Given the description of an element on the screen output the (x, y) to click on. 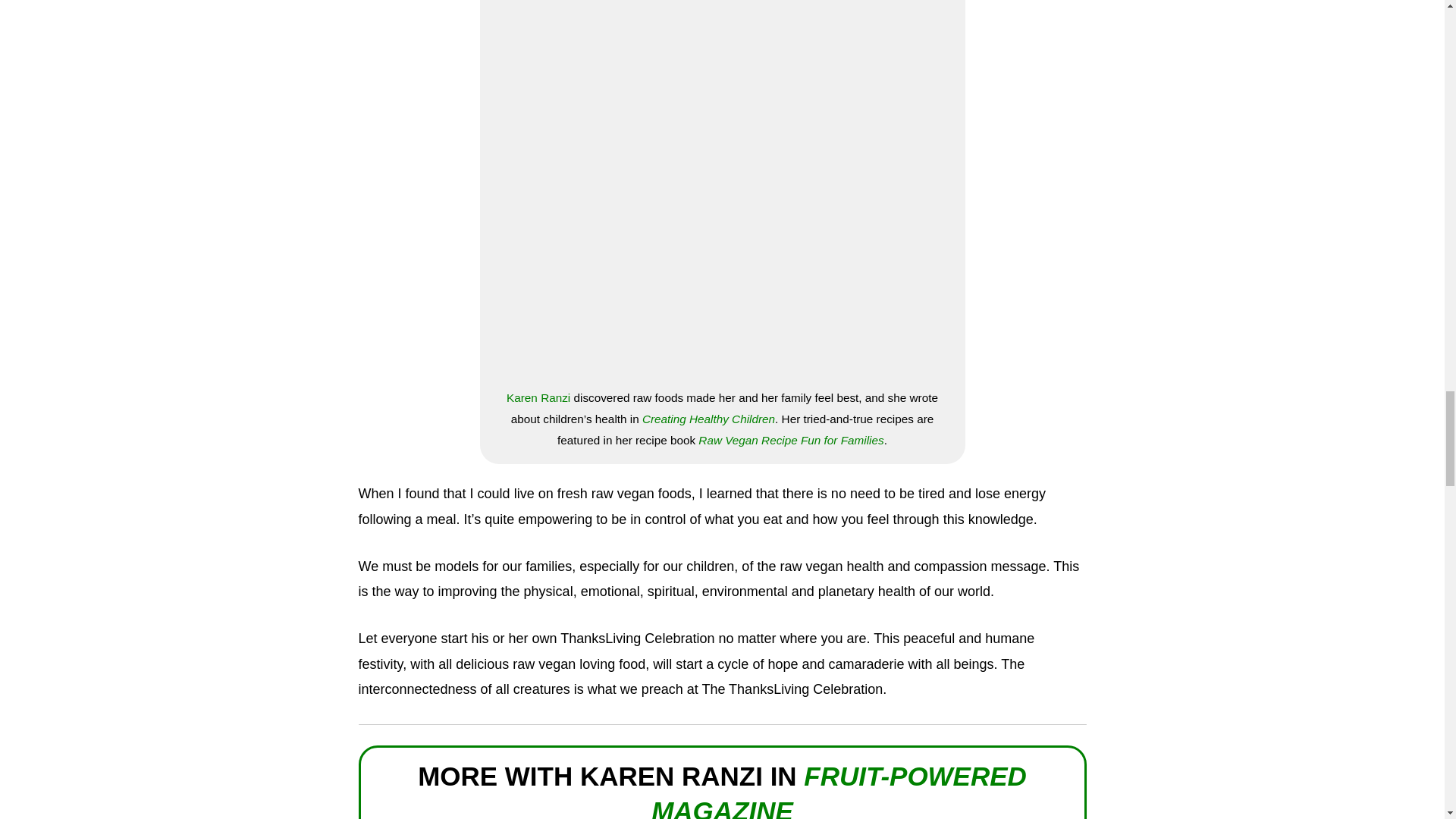
Explore Creating Healthy Children by Karen Ranzi (708, 418)
